Given the description of an element on the screen output the (x, y) to click on. 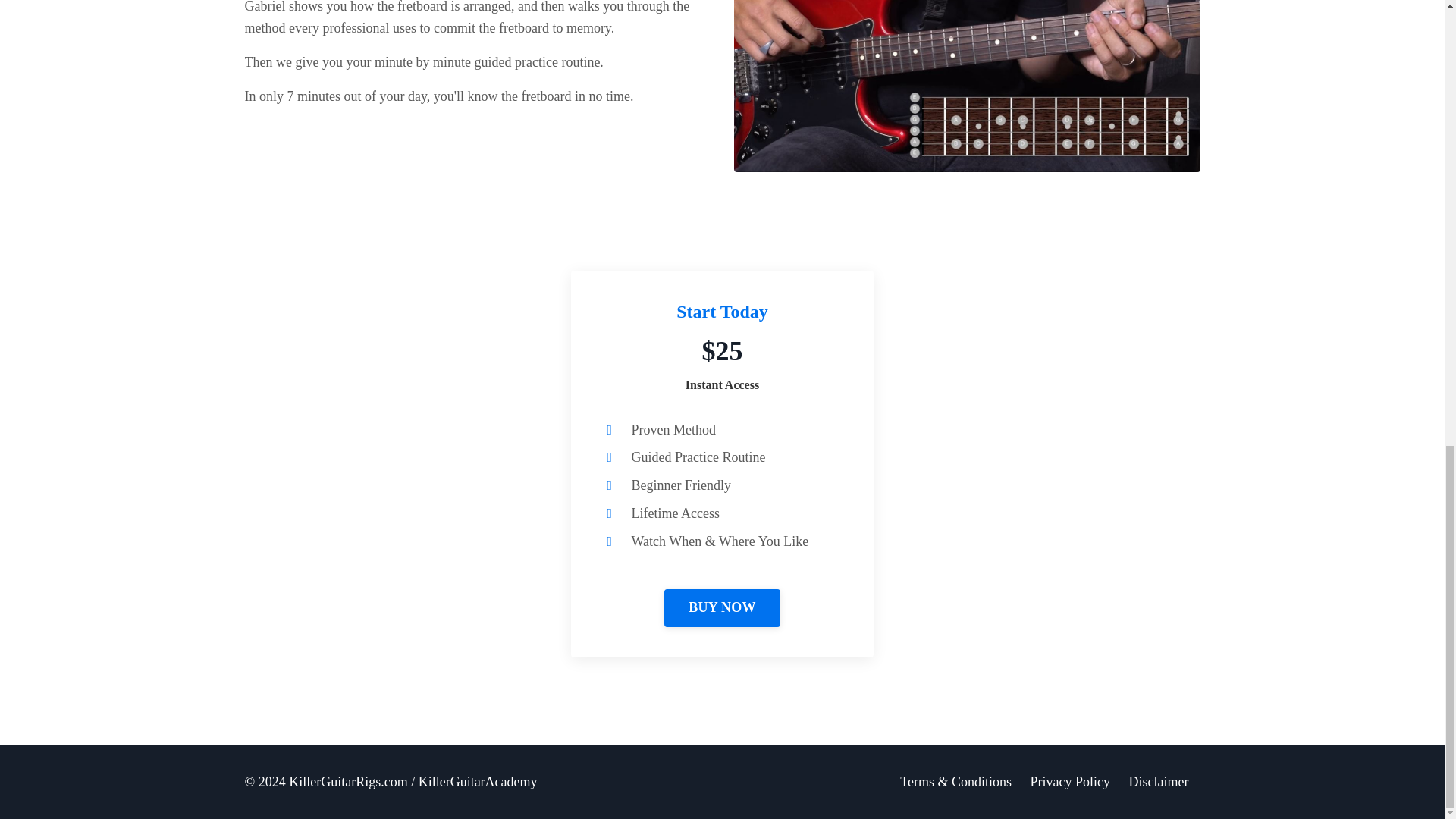
Disclaimer (1159, 781)
Privacy Policy (1070, 781)
BUY NOW (721, 607)
